Given the description of an element on the screen output the (x, y) to click on. 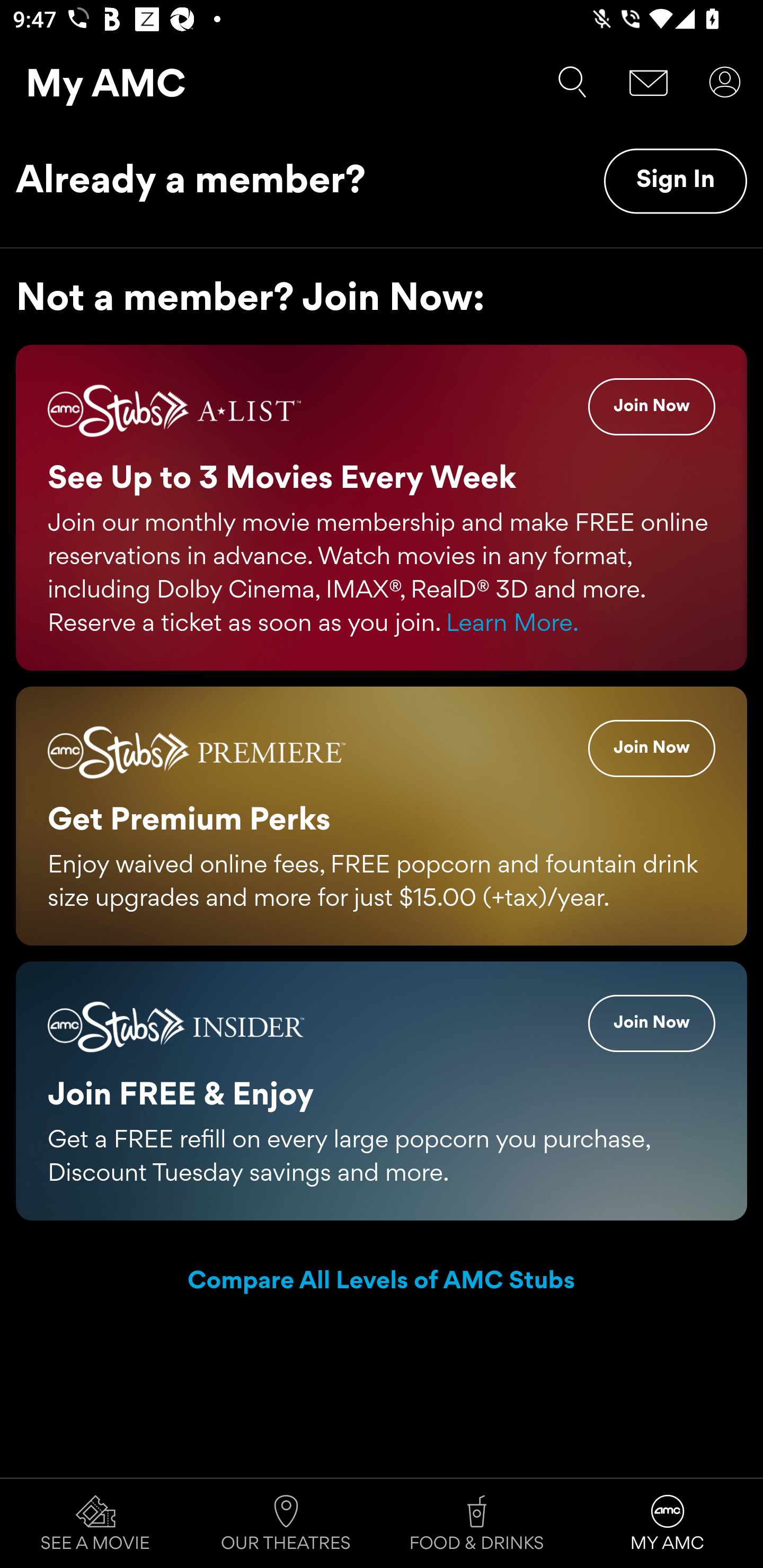
Search (572, 82)
Message Center (648, 82)
User Account (724, 82)
Sign In (675, 180)
A-List Join Now (651, 406)
Premiere Join Now (651, 748)
Insider Join Now (651, 1022)
Compare All Levels of AMC Stubs (381, 1282)
SEE A MOVIE
Tab 1 of 4 (95, 1523)
OUR THEATRES
Tab 2 of 4 (285, 1523)
FOOD & DRINKS
Tab 3 of 4 (476, 1523)
MY AMC
Tab 4 of 4 (667, 1523)
